Given the description of an element on the screen output the (x, y) to click on. 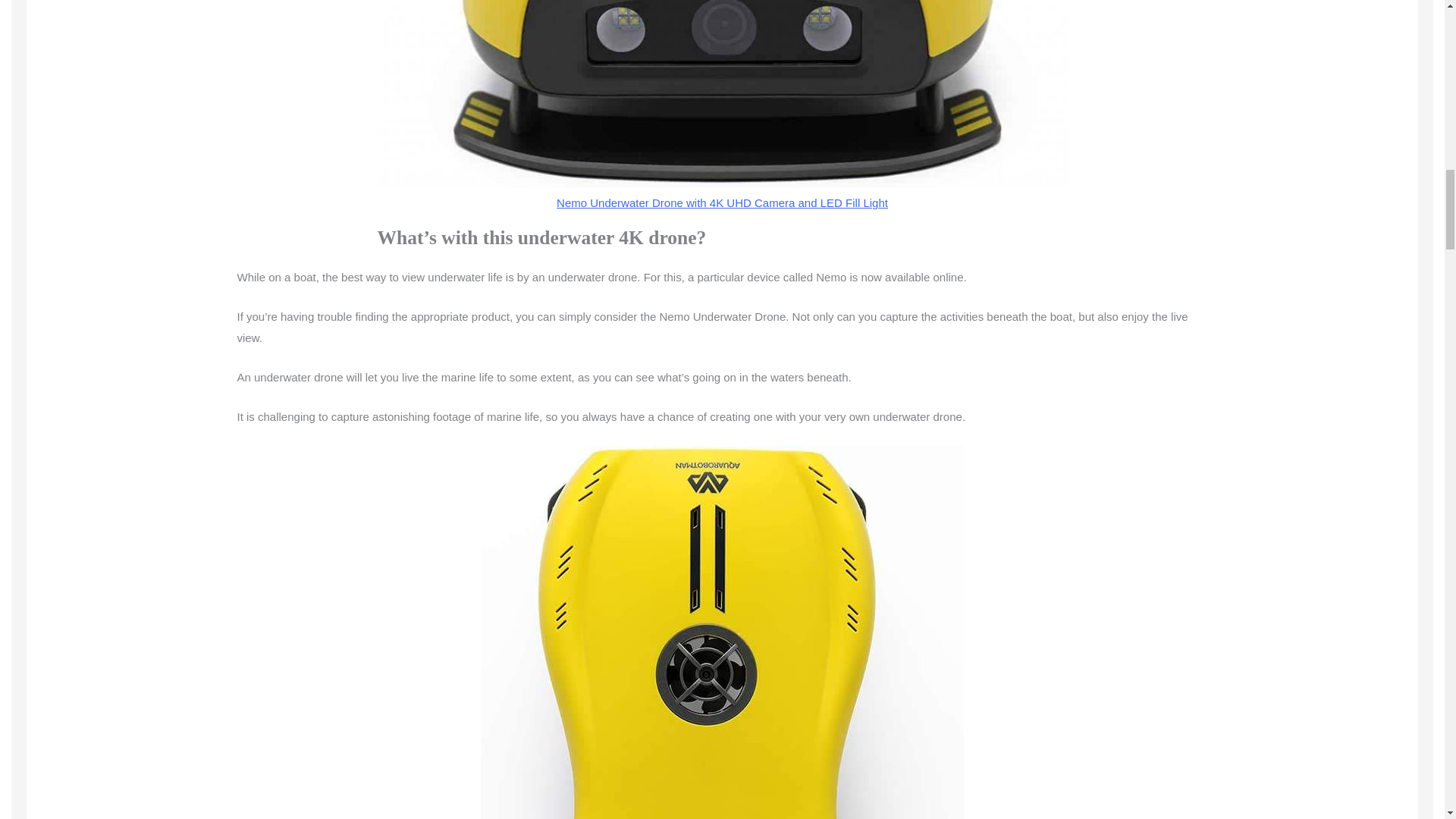
Nemo Underwater Drone with 4K UHD Camera and LED Fill Light (722, 202)
